Given the description of an element on the screen output the (x, y) to click on. 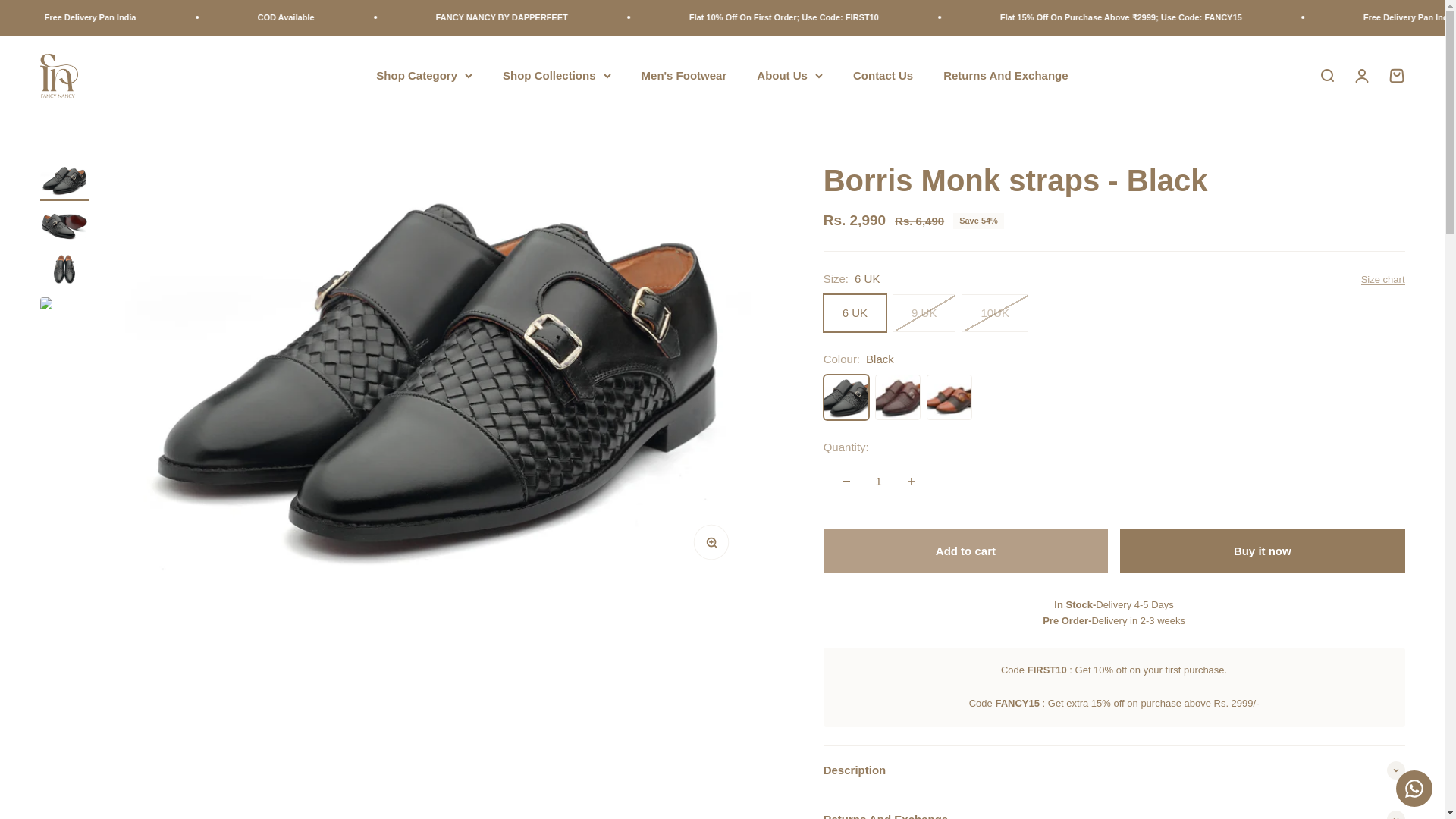
Open search (1326, 74)
Returns And Exchange (1005, 74)
1 (878, 481)
Contact Us (882, 74)
Open account page (1361, 74)
Men's Footwear (684, 74)
Dapperfeet (1396, 74)
6 UK (58, 75)
